Given the description of an element on the screen output the (x, y) to click on. 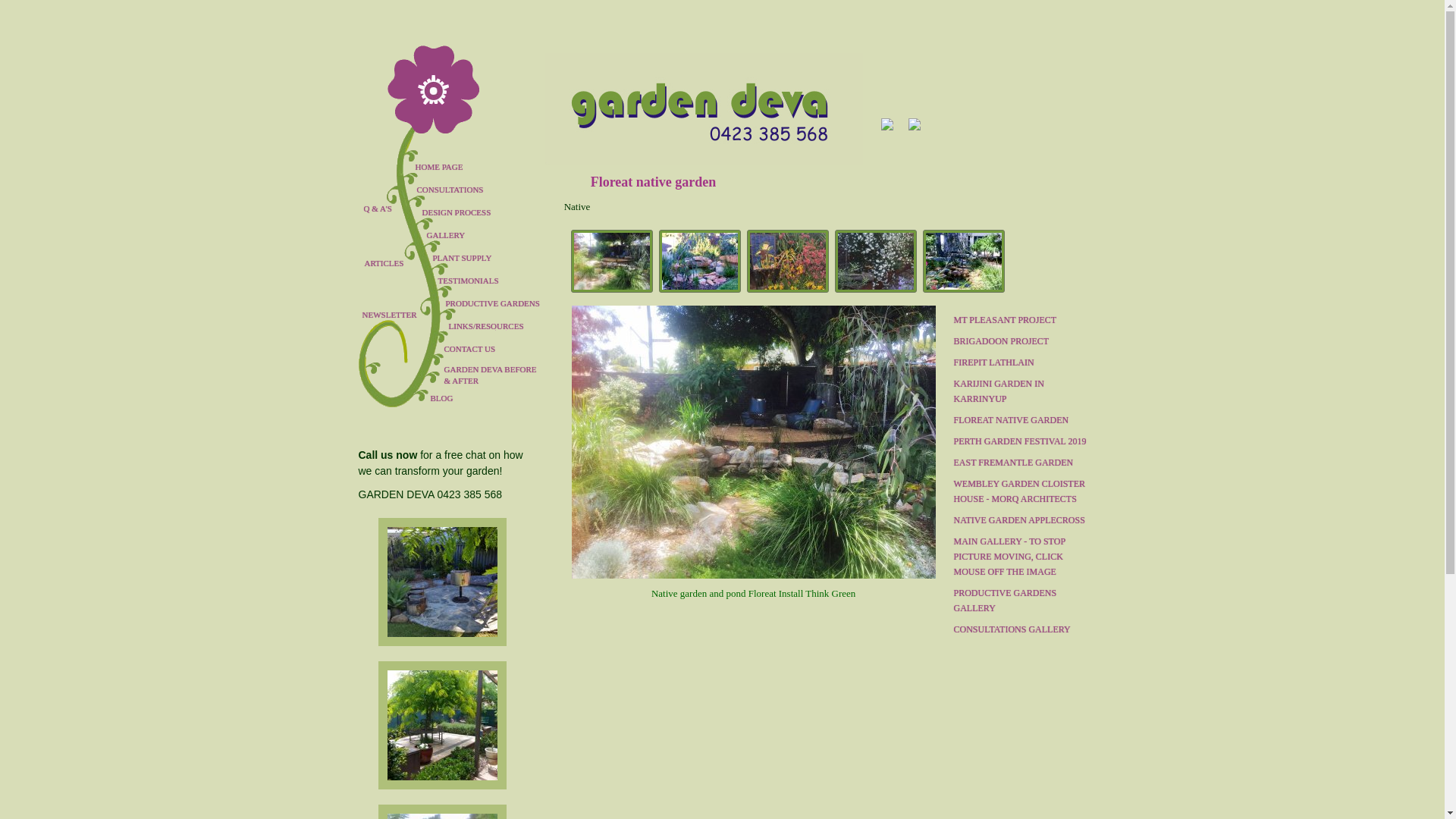
CONSULTATIONS Element type: text (487, 189)
NEWSLETTER Element type: text (392, 314)
BLOG Element type: text (494, 397)
GALLERY Element type: text (487, 234)
EAST FREMANTLE GARDEN Element type: text (1019, 462)
HOME PAGE Element type: text (487, 166)
CONTACT US Element type: text (487, 348)
ARTICLES Element type: text (393, 262)
BRIGADOON PROJECT Element type: text (1019, 340)
PRODUCTIVE GARDENS Element type: text (487, 302)
PLANT SUPPLY Element type: text (487, 257)
Native garden and pond Floreat Install Think Green Element type: text (753, 518)
LINKS/RESOURCES Element type: text (487, 325)
Q & A'S Element type: text (378, 208)
GARDEN DEVA BEFORE & AFTER Element type: text (491, 375)
CONSULTATIONS GALLERY Element type: text (1019, 629)
WEMBLEY GARDEN CLOISTER HOUSE - MORQ ARCHITECTS Element type: text (1019, 491)
KARIJINI GARDEN IN KARRINYUP Element type: text (1019, 391)
PRODUCTIVE GARDENS GALLERY Element type: text (1019, 600)
DESIGN PROCESS Element type: text (487, 211)
FIREPIT LATHLAIN Element type: text (1019, 362)
PERTH GARDEN FESTIVAL 2019 Element type: text (1019, 440)
MT PLEASANT PROJECT Element type: text (1019, 319)
NATIVE GARDEN APPLECROSS Element type: text (1019, 519)
FLOREAT NATIVE GARDEN Element type: text (1019, 419)
TESTIMONIALS Element type: text (487, 280)
